Given the description of an element on the screen output the (x, y) to click on. 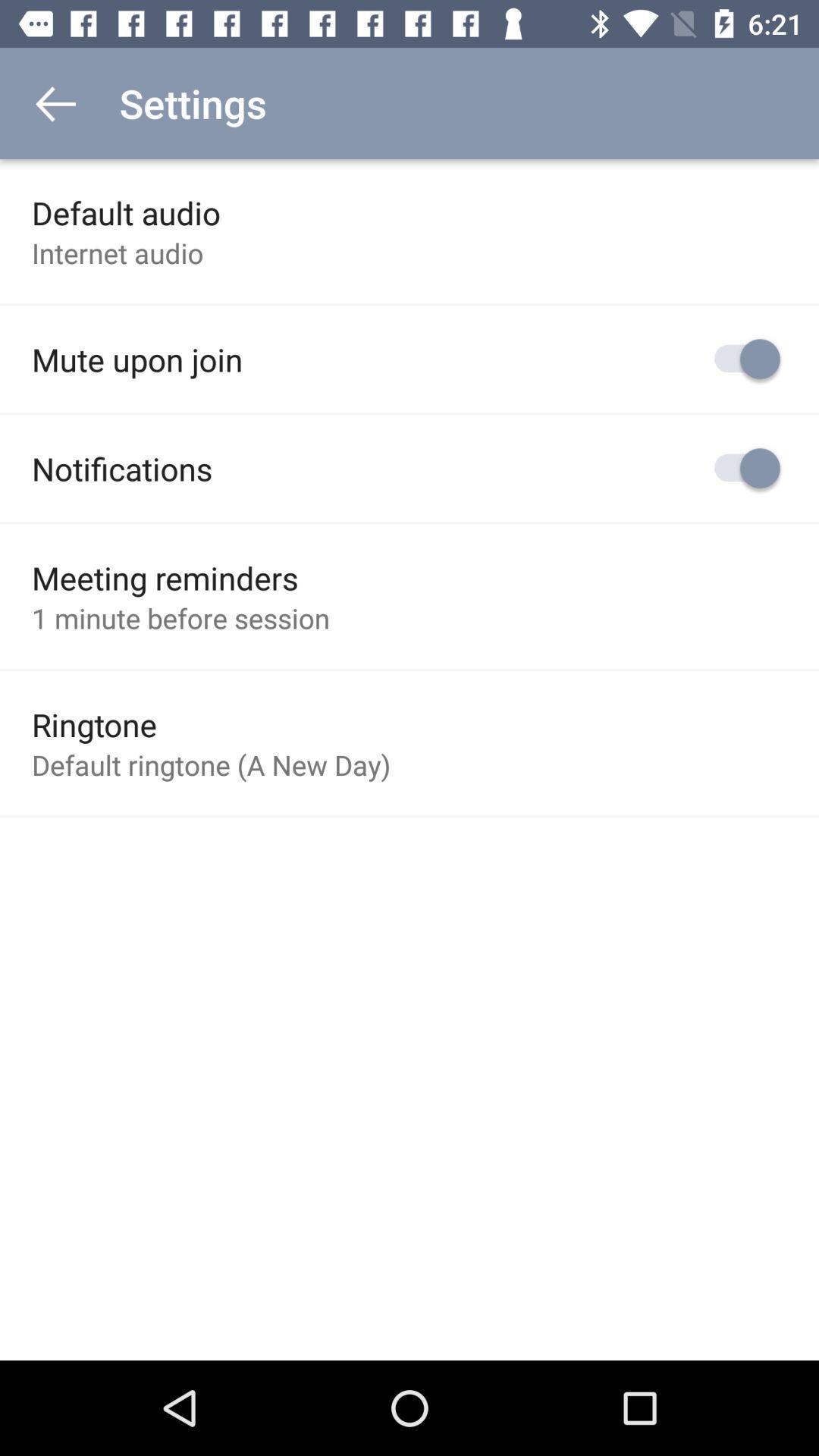
select the mute upon join (136, 359)
